Given the description of an element on the screen output the (x, y) to click on. 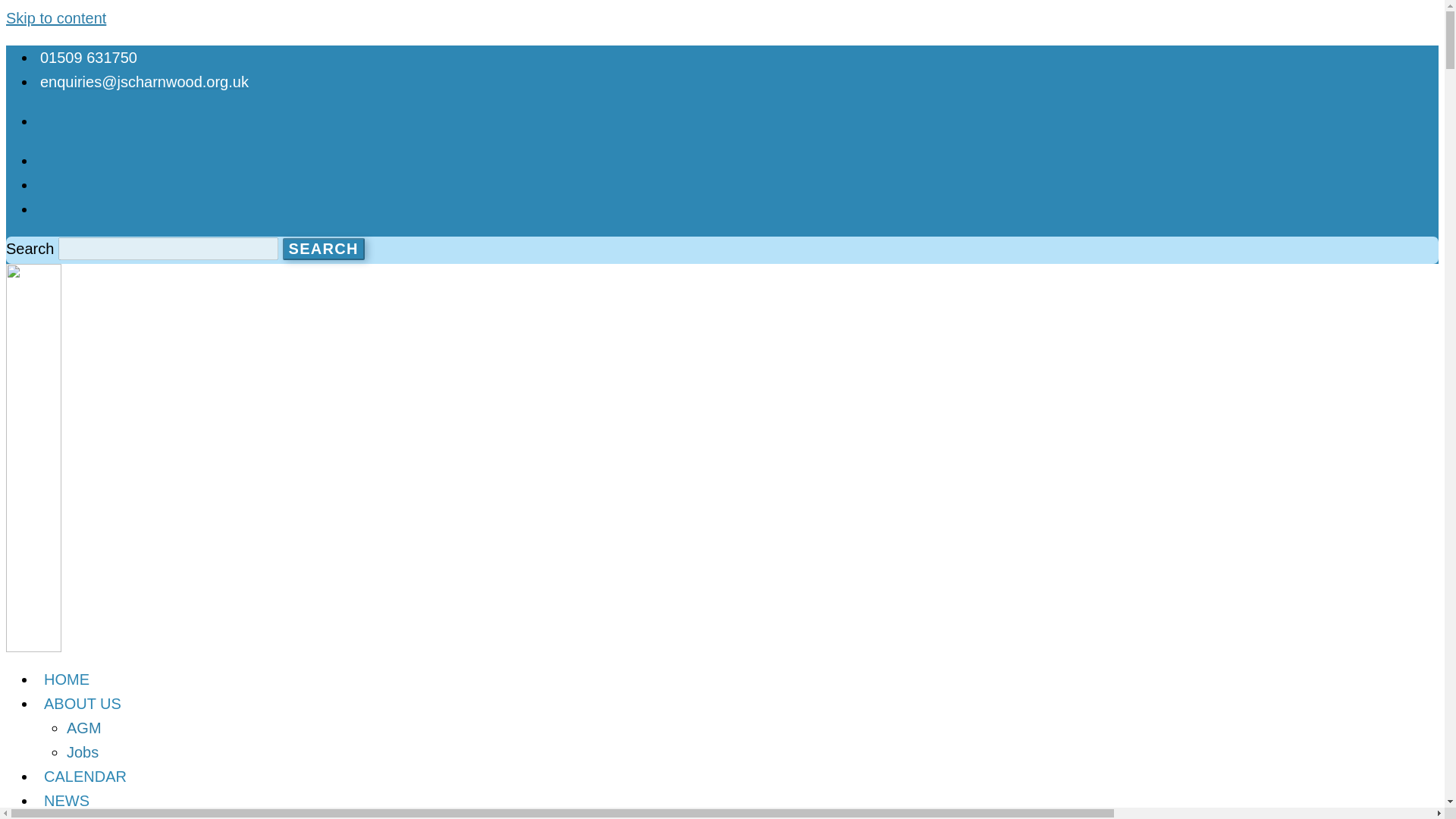
Jobs (82, 751)
SEARCH (323, 249)
NEWS (66, 798)
HOME (66, 679)
Skip to content (55, 17)
ABOUT US (82, 703)
CALENDAR (84, 776)
YOUR STORE CHARNWOOD (147, 811)
AGM (83, 727)
